Given the description of an element on the screen output the (x, y) to click on. 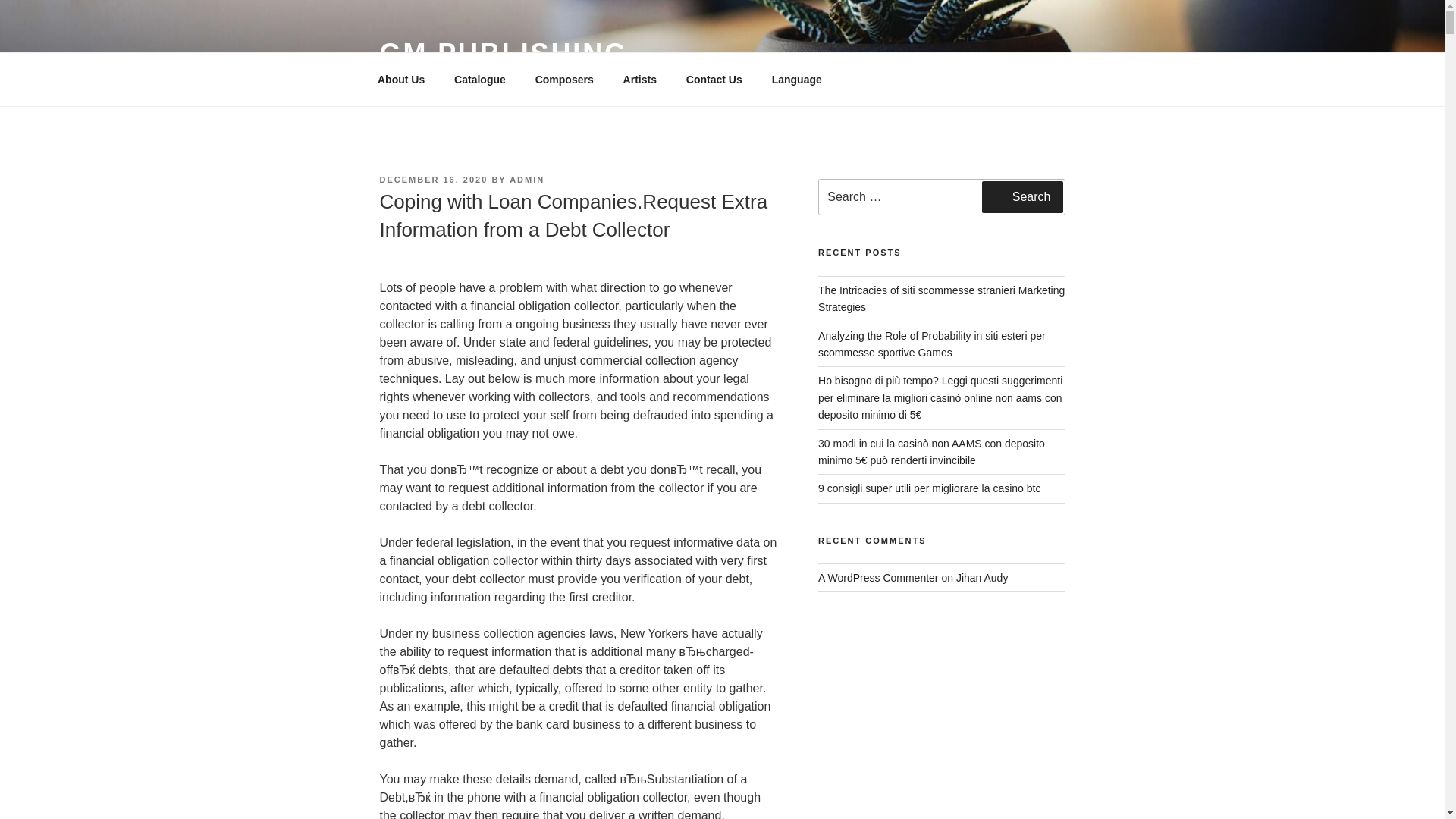
Catalogue (480, 78)
Search (1021, 196)
Contact Us (713, 78)
Language (796, 78)
Artists (639, 78)
A WordPress Commenter (877, 577)
Composers (564, 78)
ADMIN (526, 179)
Jihan Audy (982, 577)
GM PUBLISHING (502, 52)
About Us (401, 78)
DECEMBER 16, 2020 (432, 179)
